Given the description of an element on the screen output the (x, y) to click on. 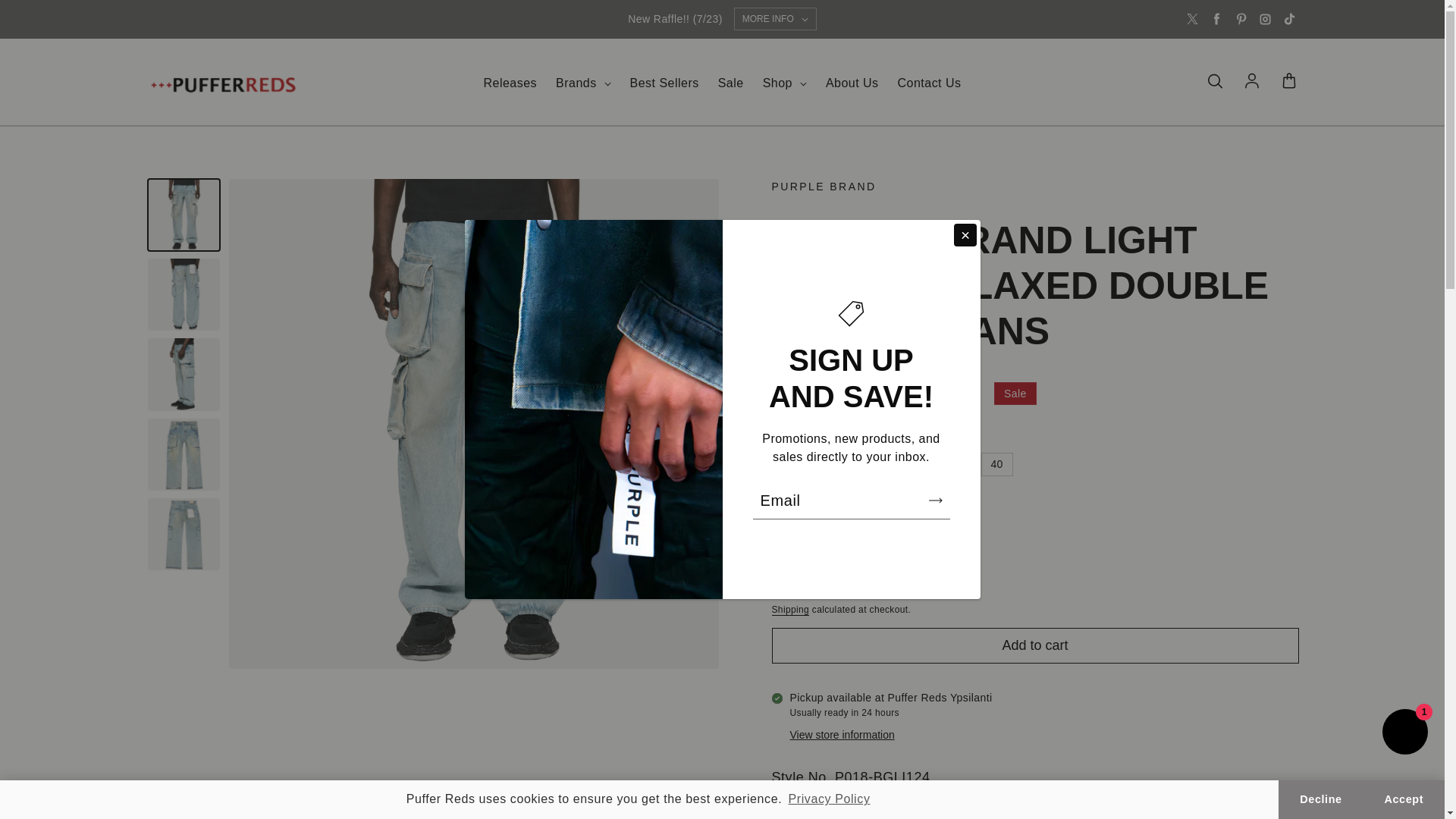
Sale (730, 83)
Twitter (1192, 18)
About Us (852, 83)
Log in (1251, 81)
TikTok (1288, 18)
Releases (510, 83)
Best Sellers (664, 83)
Decline (1320, 799)
MORE INFO (774, 18)
